Given the description of an element on the screen output the (x, y) to click on. 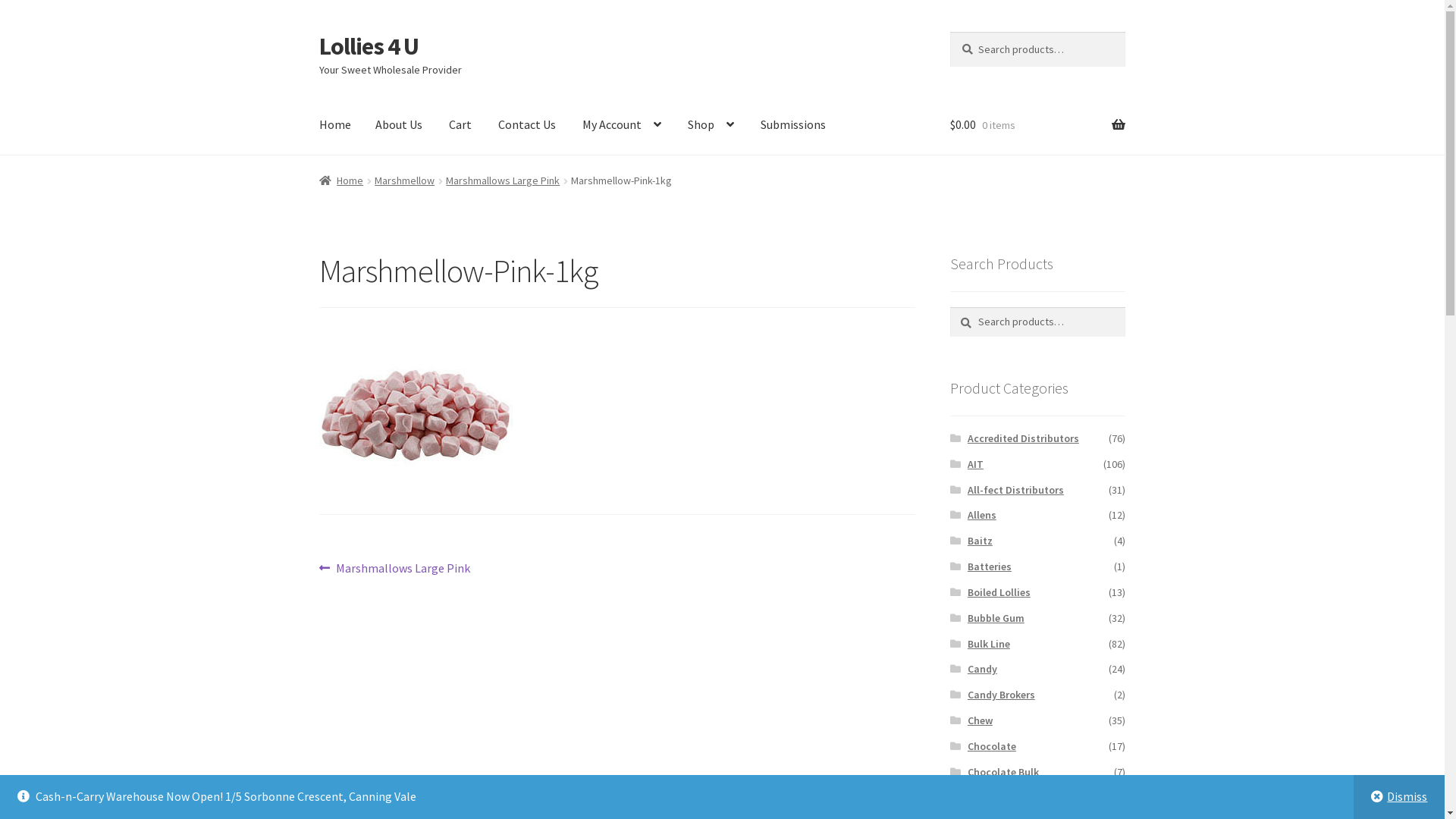
Lollies 4 U Element type: text (368, 46)
Marshmallows Large Pink Element type: text (502, 180)
About Us Element type: text (398, 124)
Allens Element type: text (981, 514)
$0.00 0 items Element type: text (1037, 124)
Bubble Gum Element type: text (995, 617)
Chocolate Element type: text (991, 746)
Baitz Element type: text (979, 540)
Boiled Lollies Element type: text (998, 592)
Candy Brokers Element type: text (1001, 694)
My Account Element type: text (621, 124)
Batteries Element type: text (989, 566)
Christmas Element type: text (991, 796)
Chocolate Bulk Element type: text (1002, 771)
Marshmellow Element type: text (404, 180)
Cart Element type: text (459, 124)
All-fect Distributors Element type: text (1015, 489)
Previous post:
Marshmallows Large Pink Element type: text (394, 568)
AIT Element type: text (975, 463)
Contact Us Element type: text (526, 124)
Home Element type: text (335, 124)
Skip to navigation Element type: text (318, 31)
Submissions Element type: text (792, 124)
Candy Element type: text (982, 668)
Home Element type: text (341, 180)
Search Element type: text (949, 306)
Shop Element type: text (710, 124)
Accredited Distributors Element type: text (1023, 438)
Bulk Line Element type: text (988, 643)
Chew Element type: text (979, 720)
Search Element type: text (949, 31)
